Given the description of an element on the screen output the (x, y) to click on. 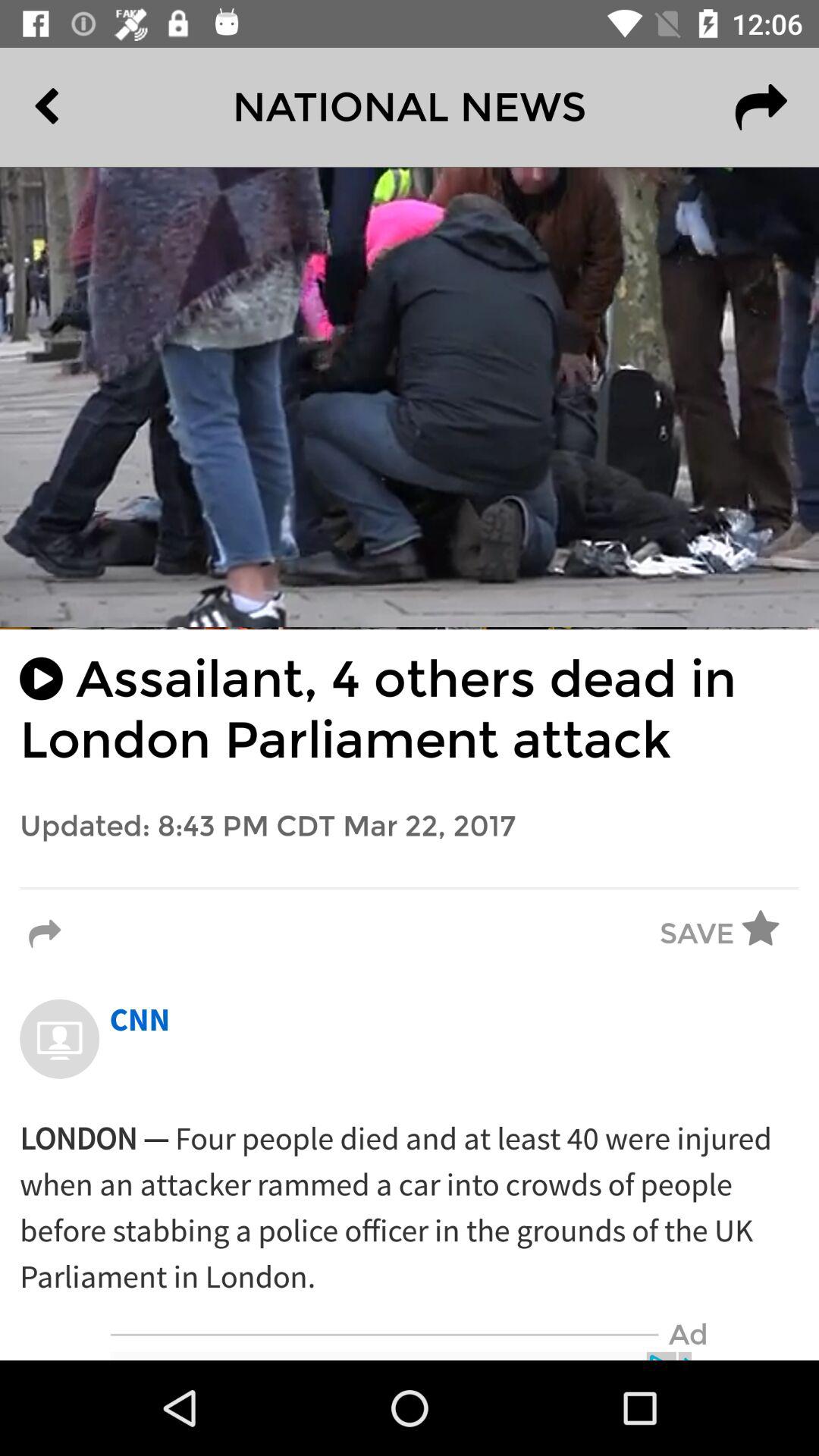
select item next to national news icon (81, 107)
